Given the description of an element on the screen output the (x, y) to click on. 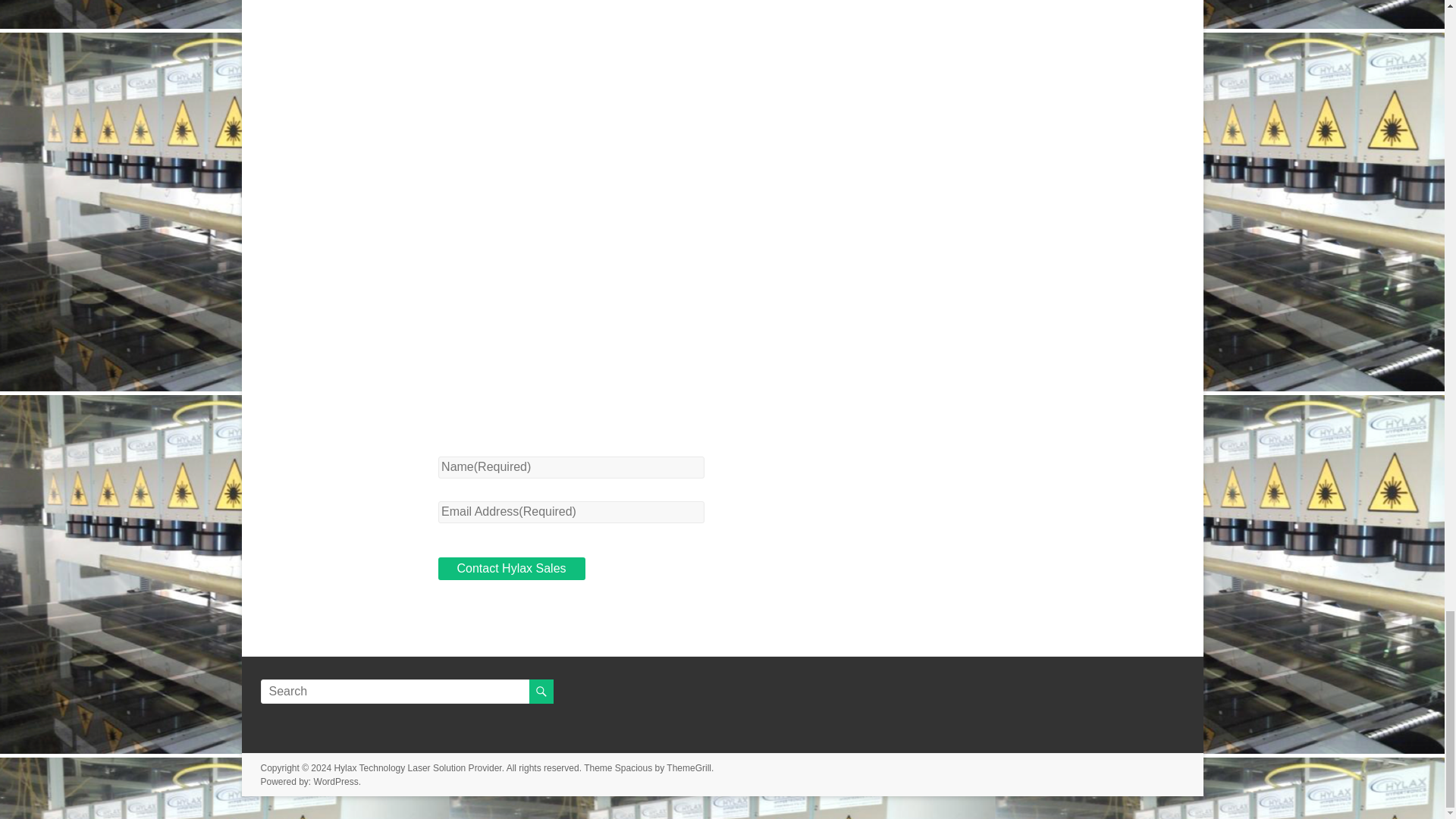
WordPress (336, 781)
Contact Hylax Sales (511, 568)
Flipping mechanism in laser marker machine (722, 56)
Spacious (633, 767)
Hylax Technology Laser Solution Provider (416, 767)
